Given the description of an element on the screen output the (x, y) to click on. 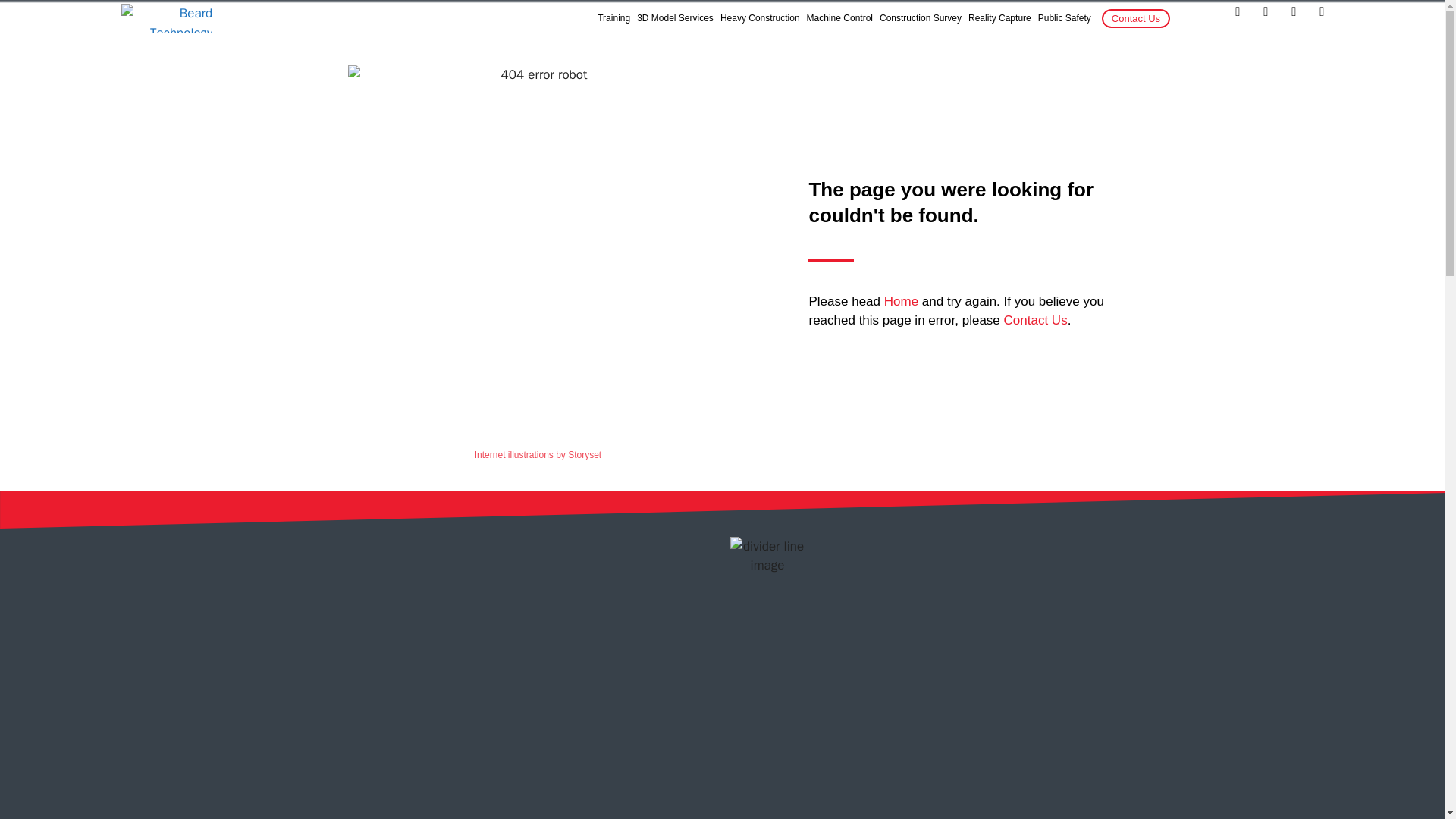
Construction Survey (919, 17)
Reality Capture (999, 17)
Machine Control (839, 17)
Public Safety (1064, 17)
Training (613, 17)
3D Model Services (674, 17)
Heavy Construction (760, 17)
Contact Us (1136, 18)
